Given the description of an element on the screen output the (x, y) to click on. 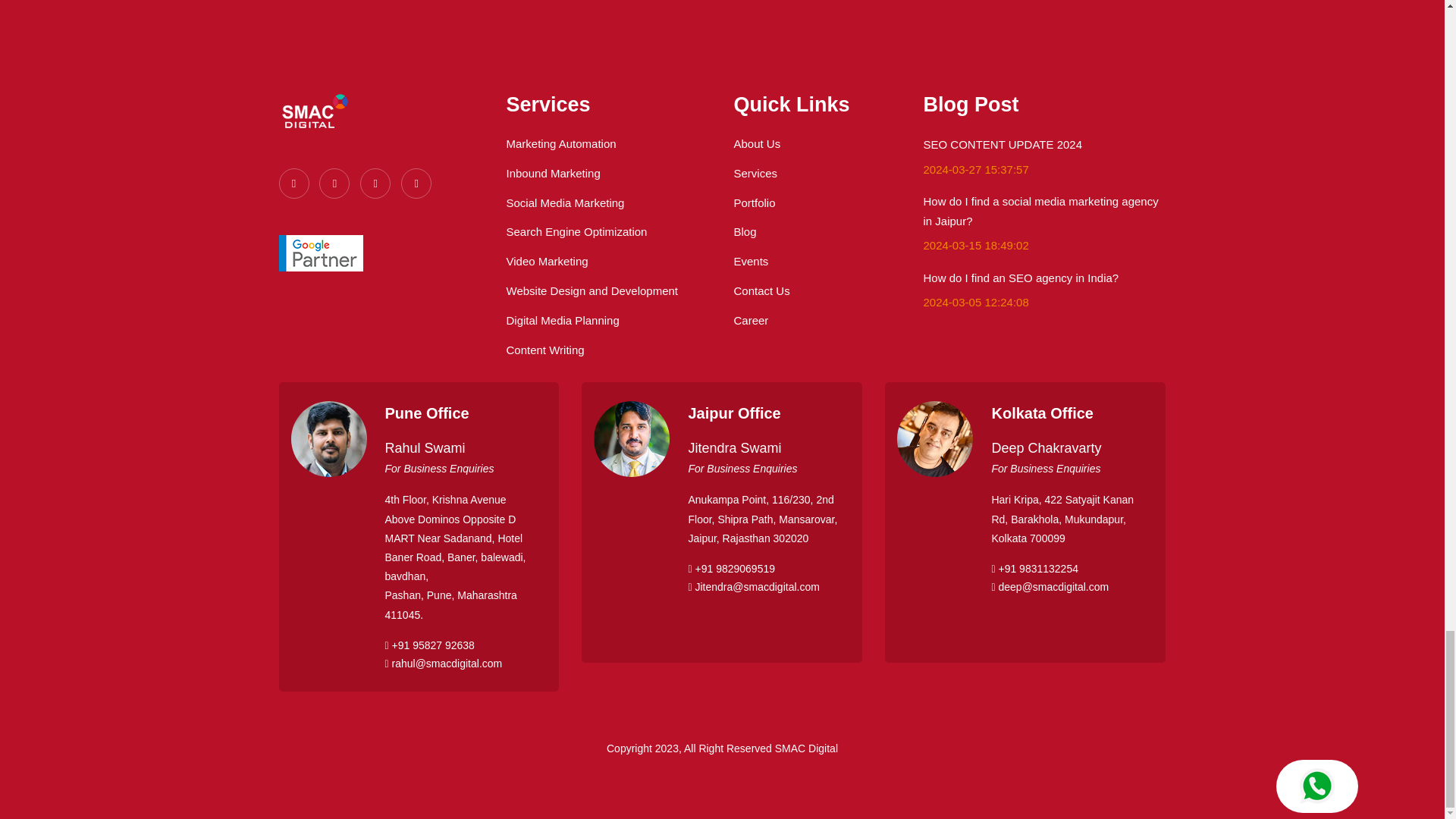
How do I find a social media marketing agency in Jaipur? (1040, 210)
Portfolio (754, 202)
About Us (756, 143)
Contact Us (761, 290)
Website Design and Development (592, 290)
Content Writing (545, 349)
How do I find an SEO agency in India? (1021, 277)
Events (750, 260)
Video Marketing (547, 260)
Blog (745, 231)
